Given the description of an element on the screen output the (x, y) to click on. 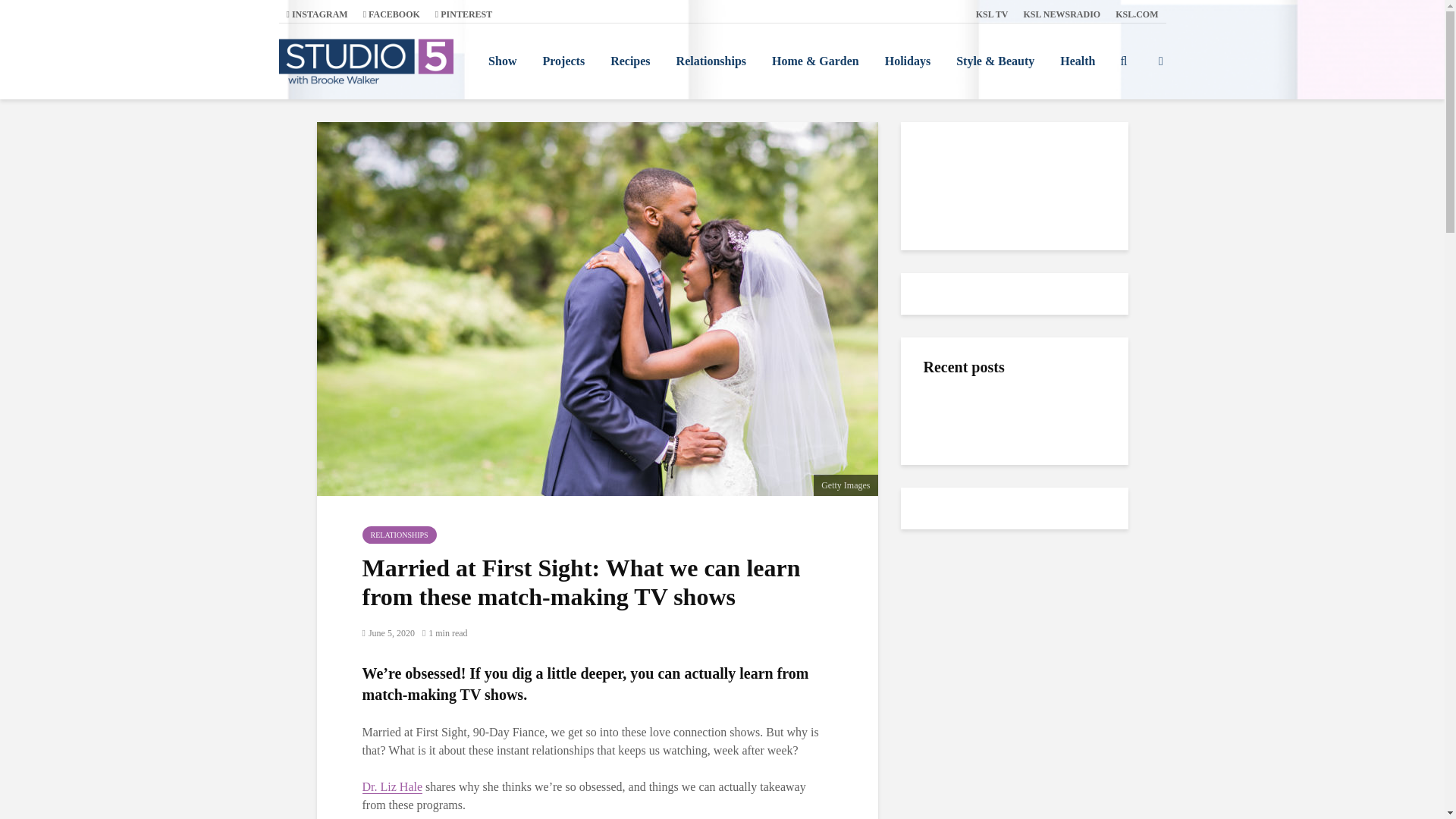
Dr. Liz Hale (392, 786)
FACEBOOK (391, 14)
KSL NEWSRADIO (1061, 14)
KSL TV (992, 14)
RELATIONSHIPS (399, 534)
Show (502, 60)
PINTEREST (463, 14)
Health (1077, 60)
Relationships (711, 60)
Holidays (907, 60)
